Given the description of an element on the screen output the (x, y) to click on. 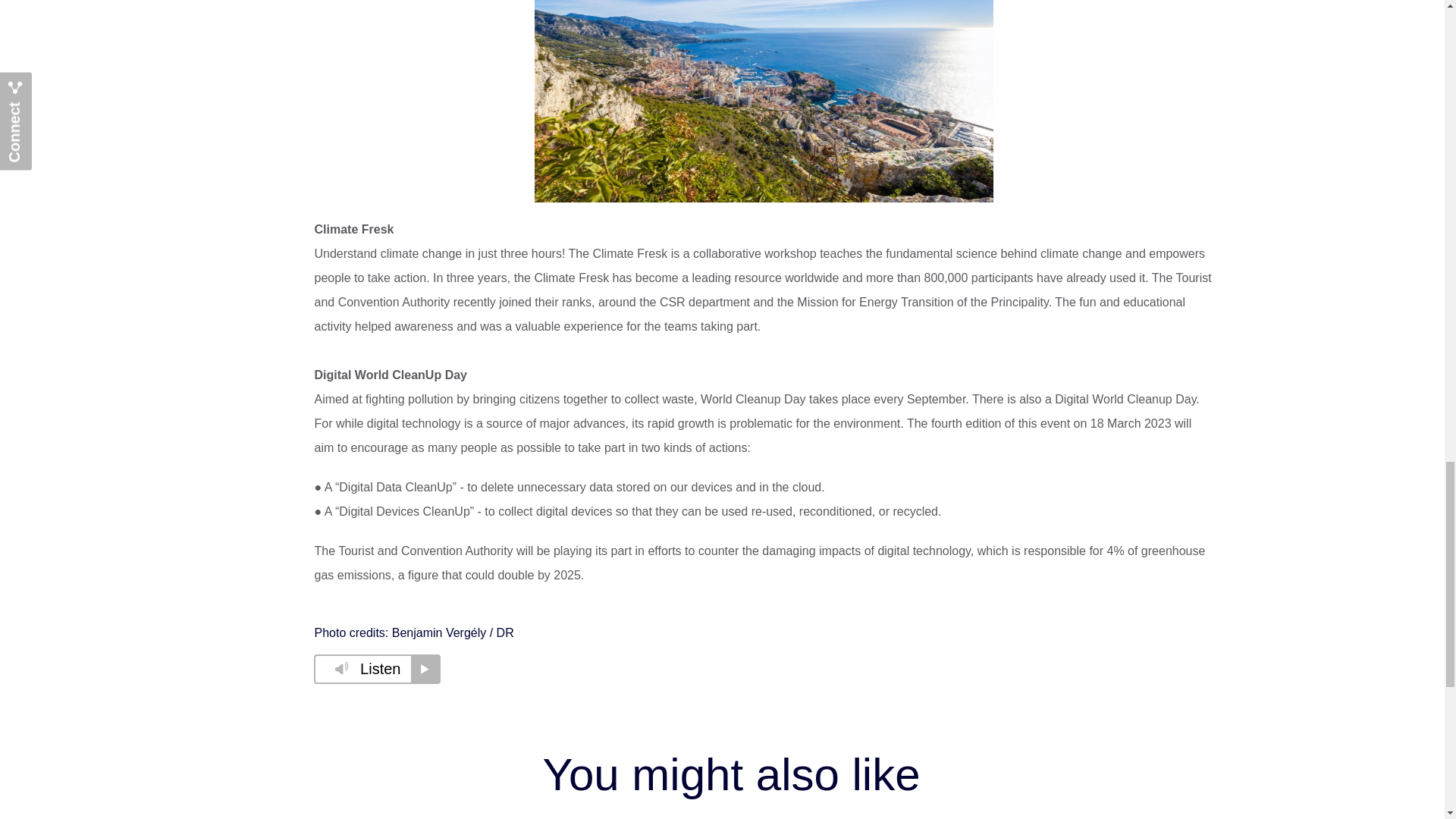
Listen with ReadSpeaker (377, 668)
